Given the description of an element on the screen output the (x, y) to click on. 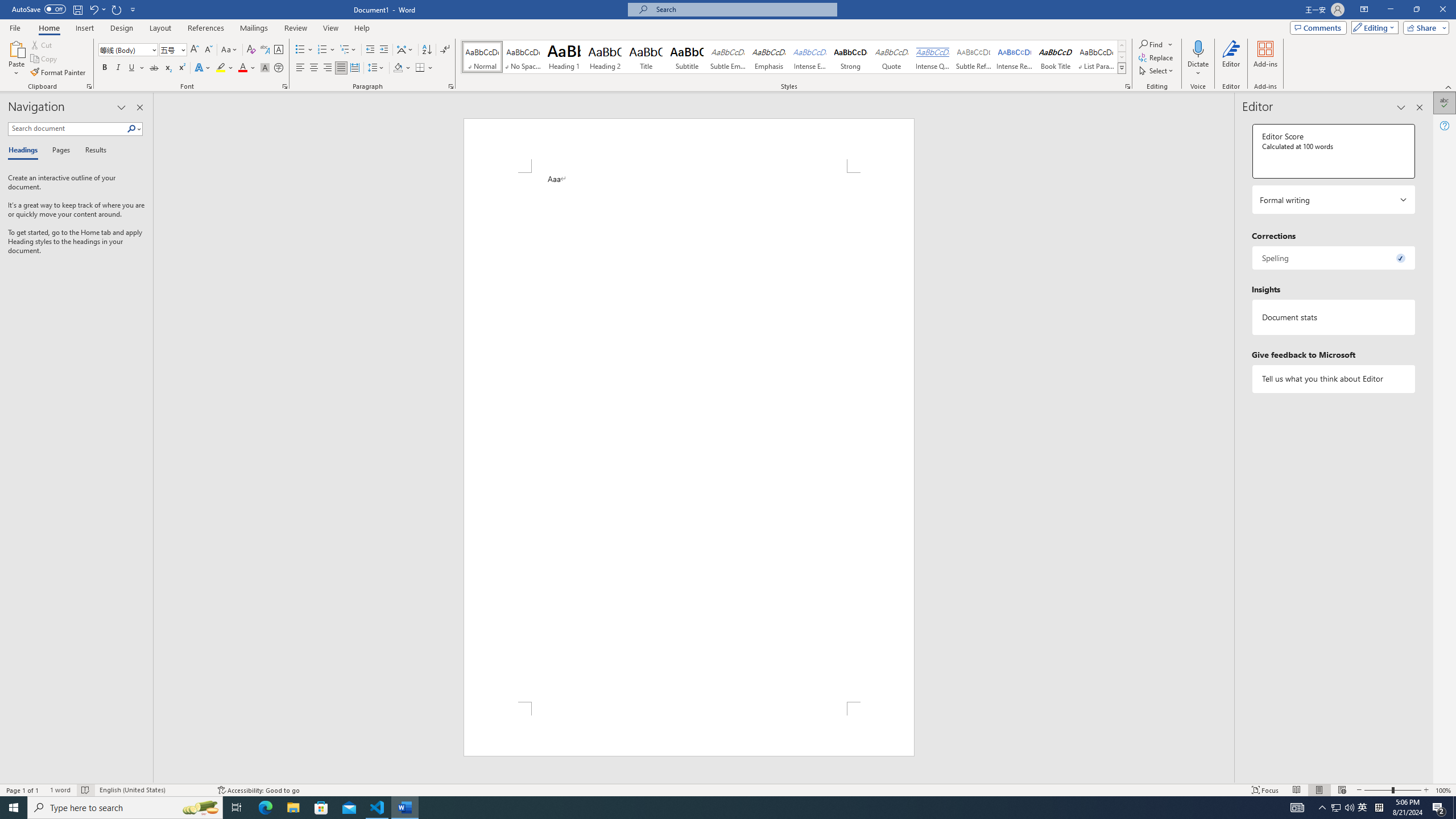
Show/Hide Editing Marks (444, 49)
Text Highlight Color (224, 67)
Zoom 100% (1443, 790)
Results (91, 150)
Strong (849, 56)
Center (313, 67)
Character Border (278, 49)
Class: MsoCommandBar (728, 789)
Decrease Indent (370, 49)
